Given the description of an element on the screen output the (x, y) to click on. 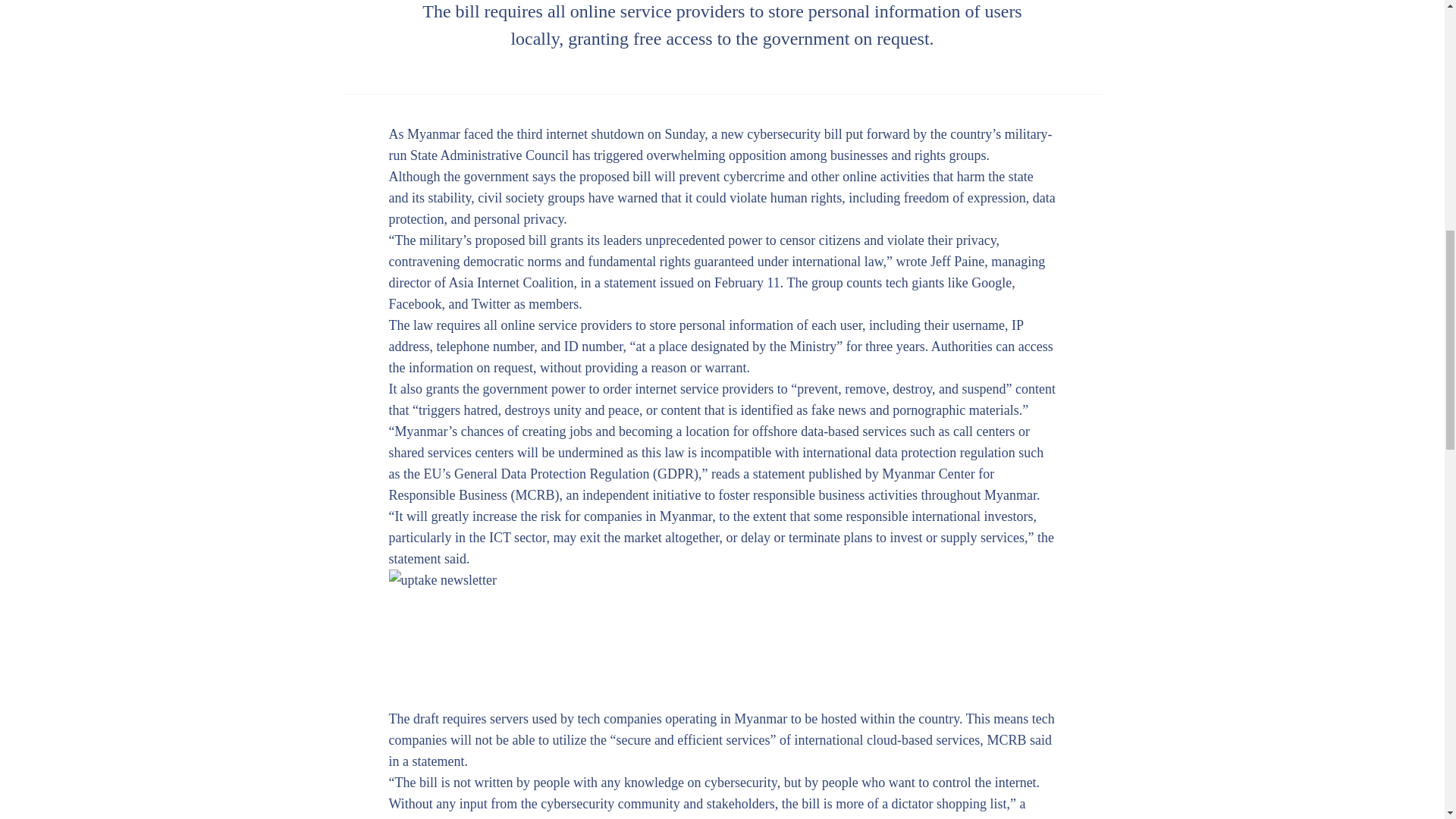
violate human rights (785, 197)
statement (630, 282)
statement. (439, 761)
third internet shutdown on Sunday (610, 133)
